Given the description of an element on the screen output the (x, y) to click on. 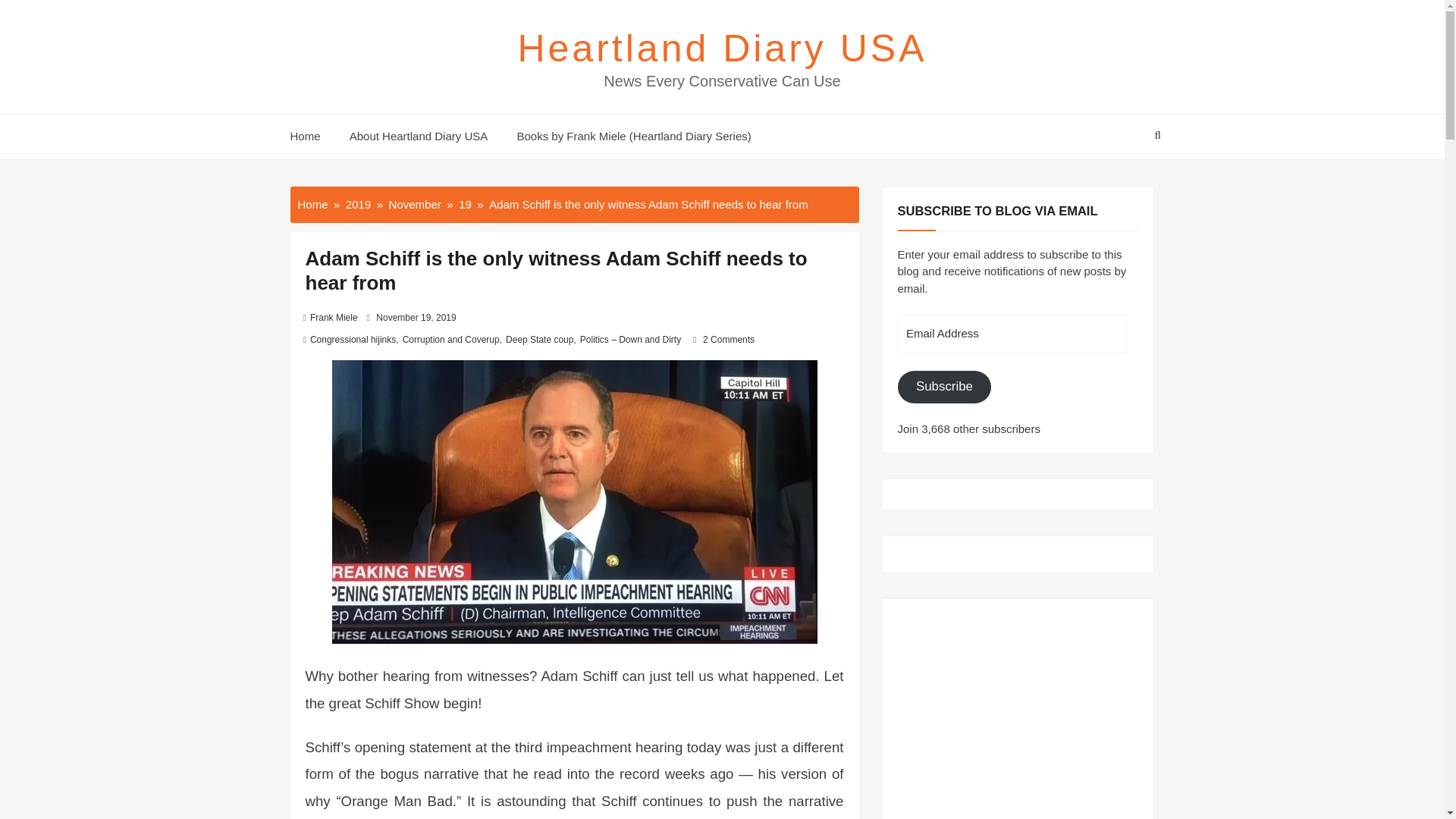
2 Comments (728, 339)
Heartland Diary USA (721, 48)
Congressional hijinks (353, 339)
Advertisement (1018, 708)
November (414, 203)
2019 (358, 203)
Deep State coup (539, 339)
Corruption and Coverup (451, 339)
November 19, 2019 (415, 317)
Frank Miele (334, 317)
